Given the description of an element on the screen output the (x, y) to click on. 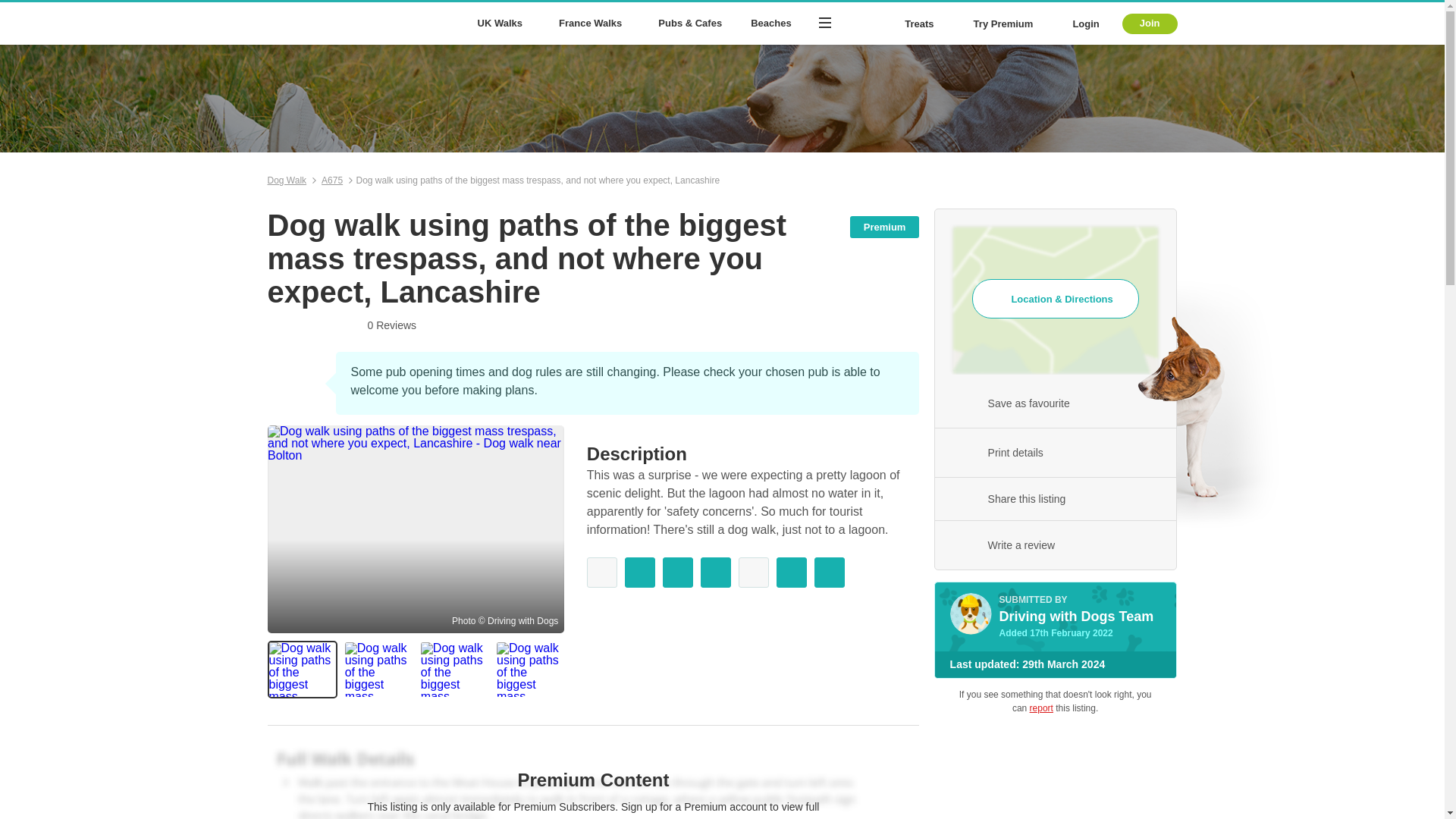
Sleep Available (828, 572)
Refreshments Available (639, 572)
No Height Restriction (791, 572)
Disabled Access Not Available (601, 572)
Beaches (770, 23)
UK Walks (502, 23)
France Walks (593, 23)
Free Parking Available (715, 572)
Children's Activities Not Available (753, 572)
WC Available (677, 572)
